Given the description of an element on the screen output the (x, y) to click on. 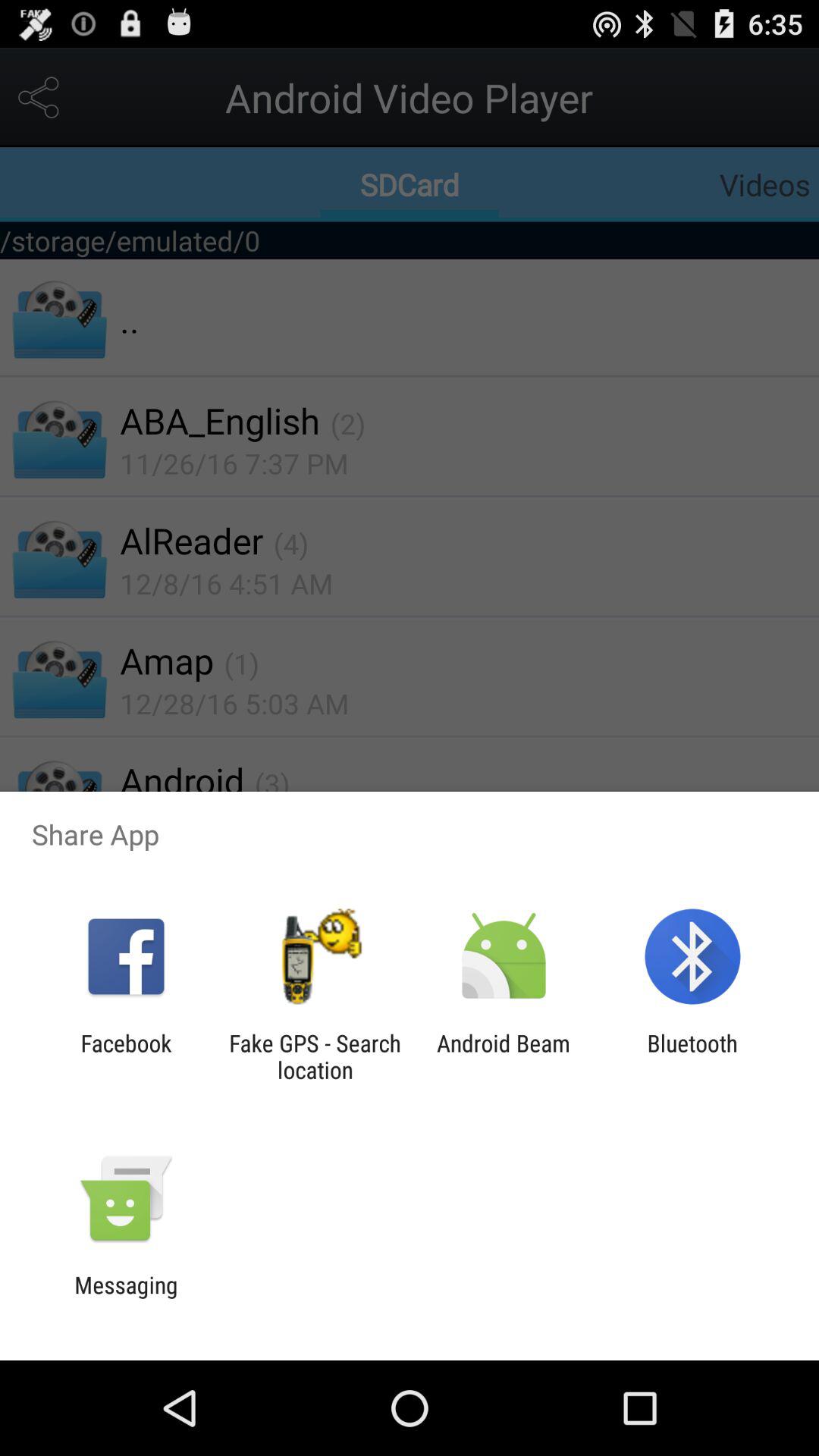
flip to bluetooth item (692, 1056)
